Given the description of an element on the screen output the (x, y) to click on. 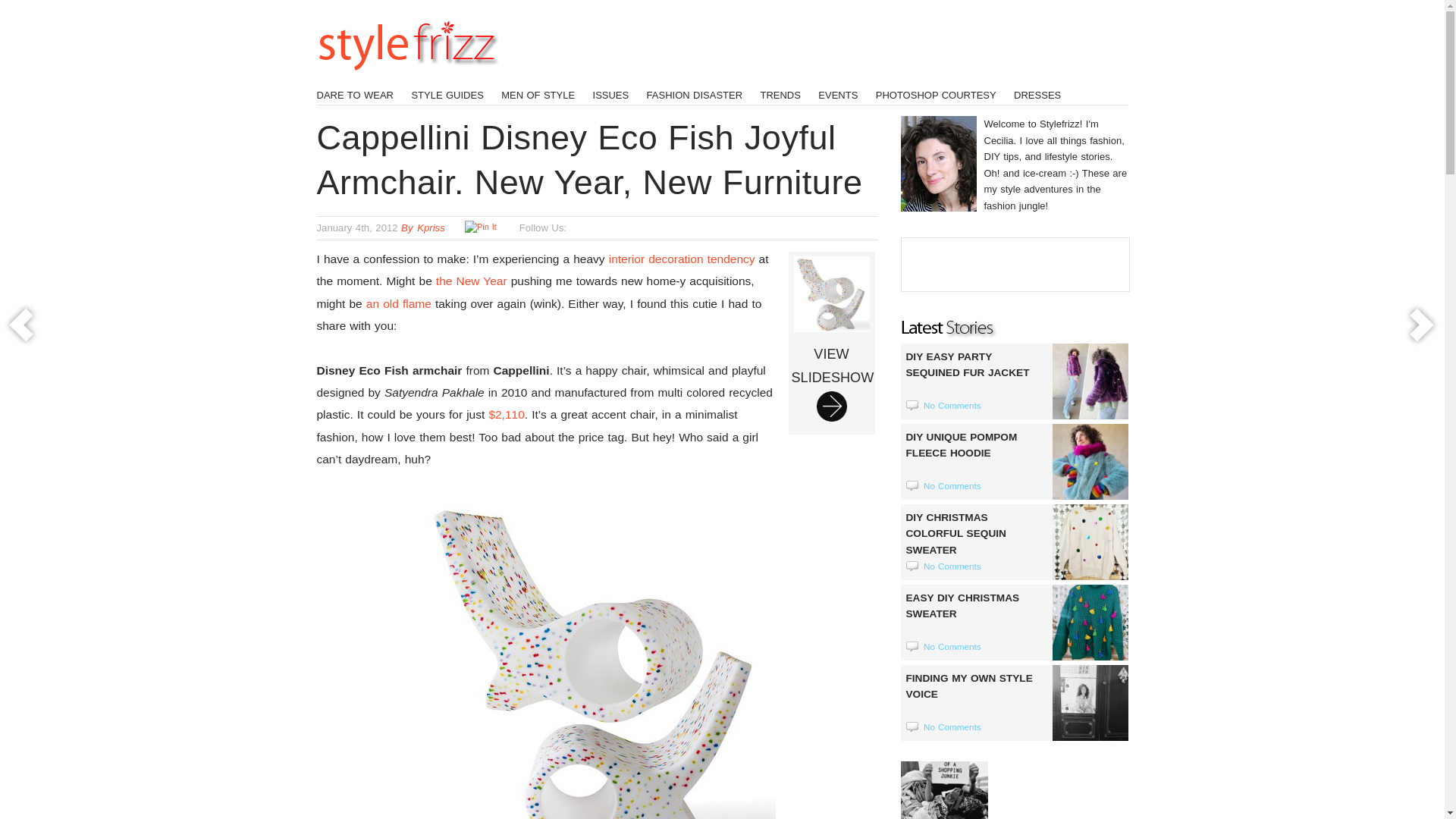
PHOTOSHOP COURTESY (935, 94)
No Comments (951, 405)
DARE TO WEAR (355, 94)
ISSUES (610, 94)
MEN OF STYLE (537, 94)
DIY EASY PARTY SEQUINED FUR JACKET (1014, 377)
StyleFrizz (408, 77)
Disney Eco Fish Armchair Cappellini (595, 657)
Confessions of a Shopping Junkie (944, 790)
DRESSES (1037, 94)
EVENTS (837, 94)
FASHION DISASTER (694, 94)
the New Year (832, 342)
Cecilia (470, 280)
